Given the description of an element on the screen output the (x, y) to click on. 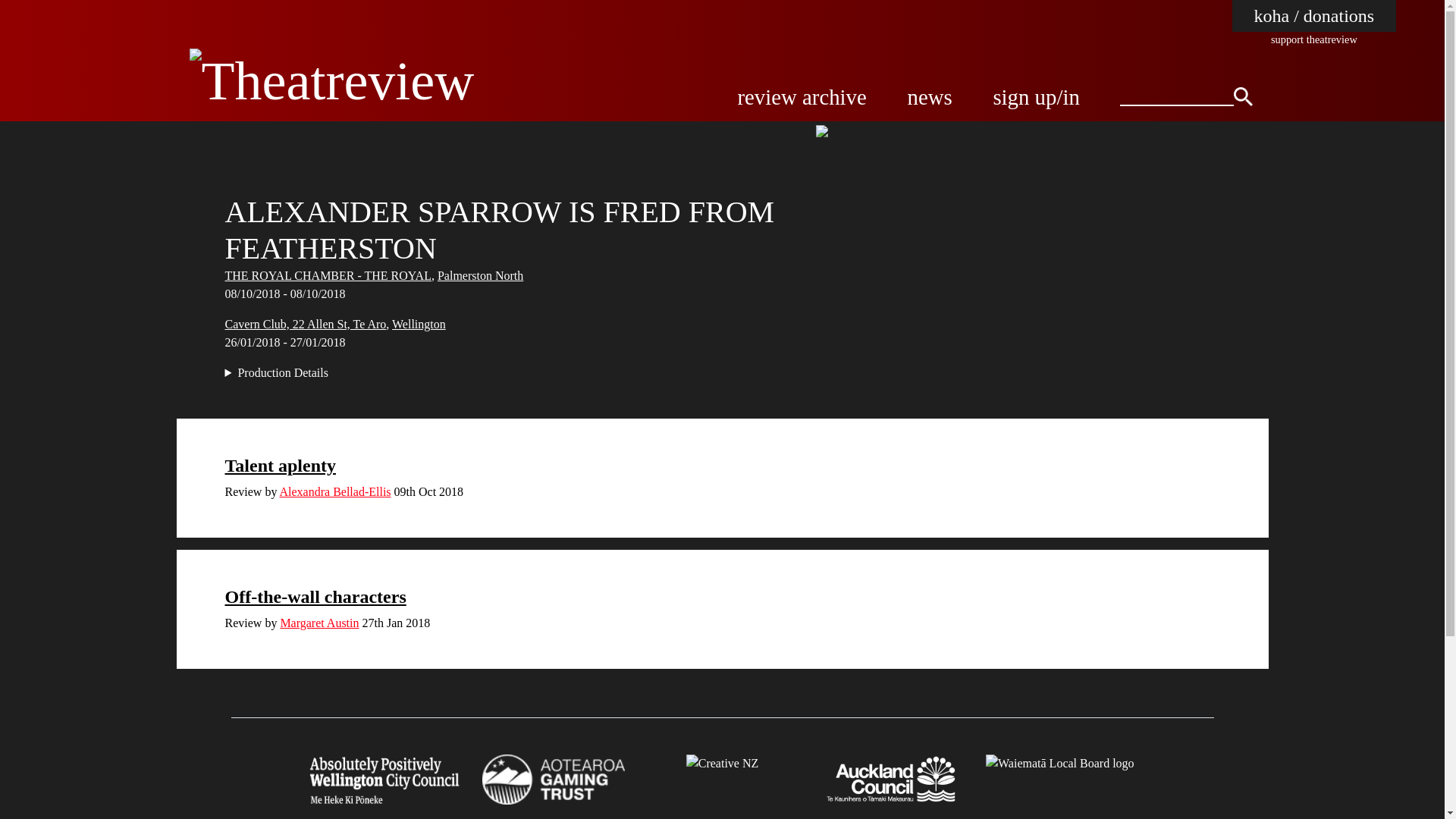
Alexandra Bellad-Ellis (334, 491)
news (929, 96)
Wellington (418, 323)
Palmerston North (480, 275)
THE ROYAL CHAMBER - THE ROYAL (327, 275)
review archive (801, 96)
Cavern Club, 22 Allen St, Te Aro (304, 323)
Margaret Austin (318, 622)
